Given the description of an element on the screen output the (x, y) to click on. 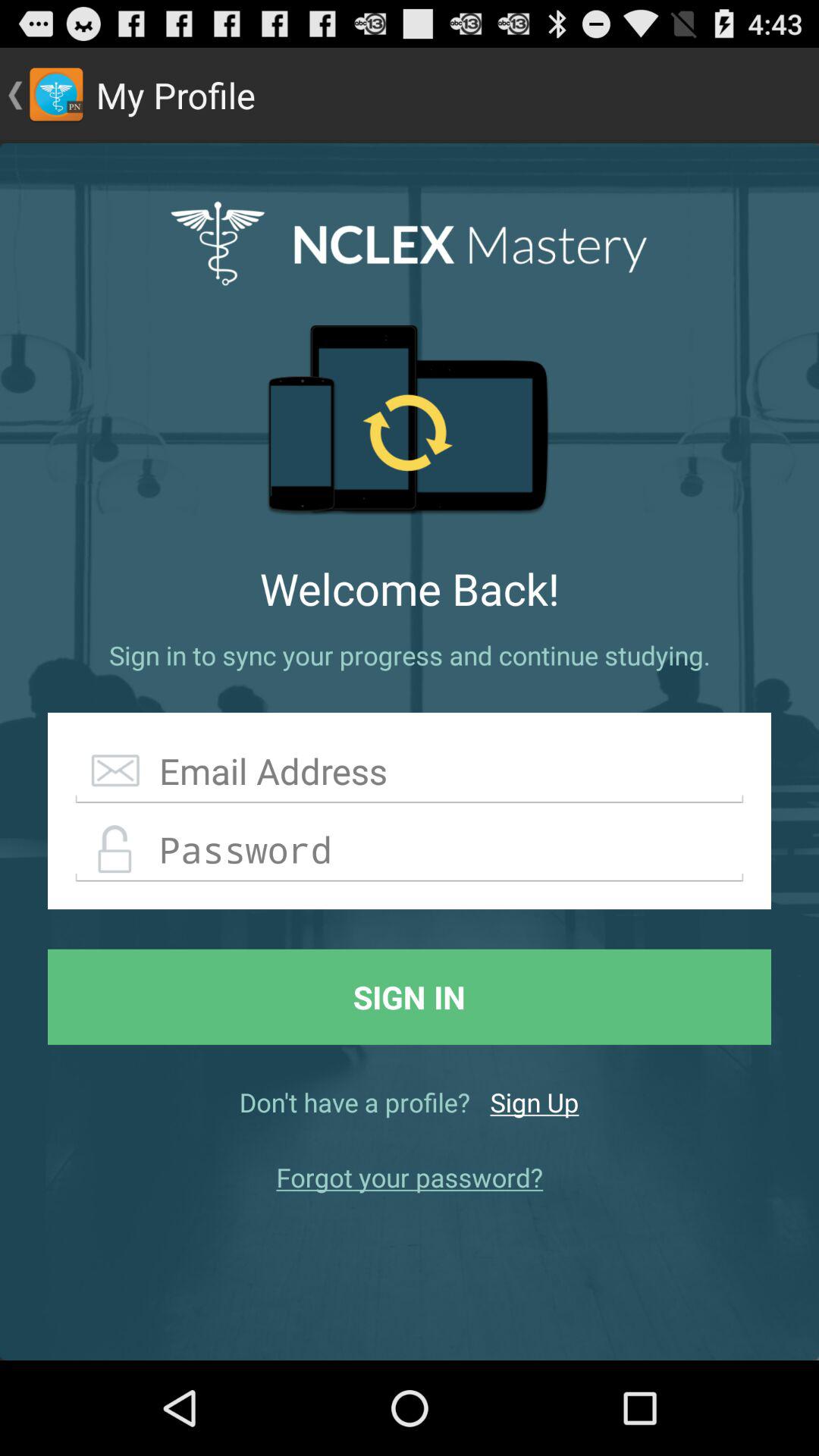
flip until the sign up icon (534, 1101)
